Given the description of an element on the screen output the (x, y) to click on. 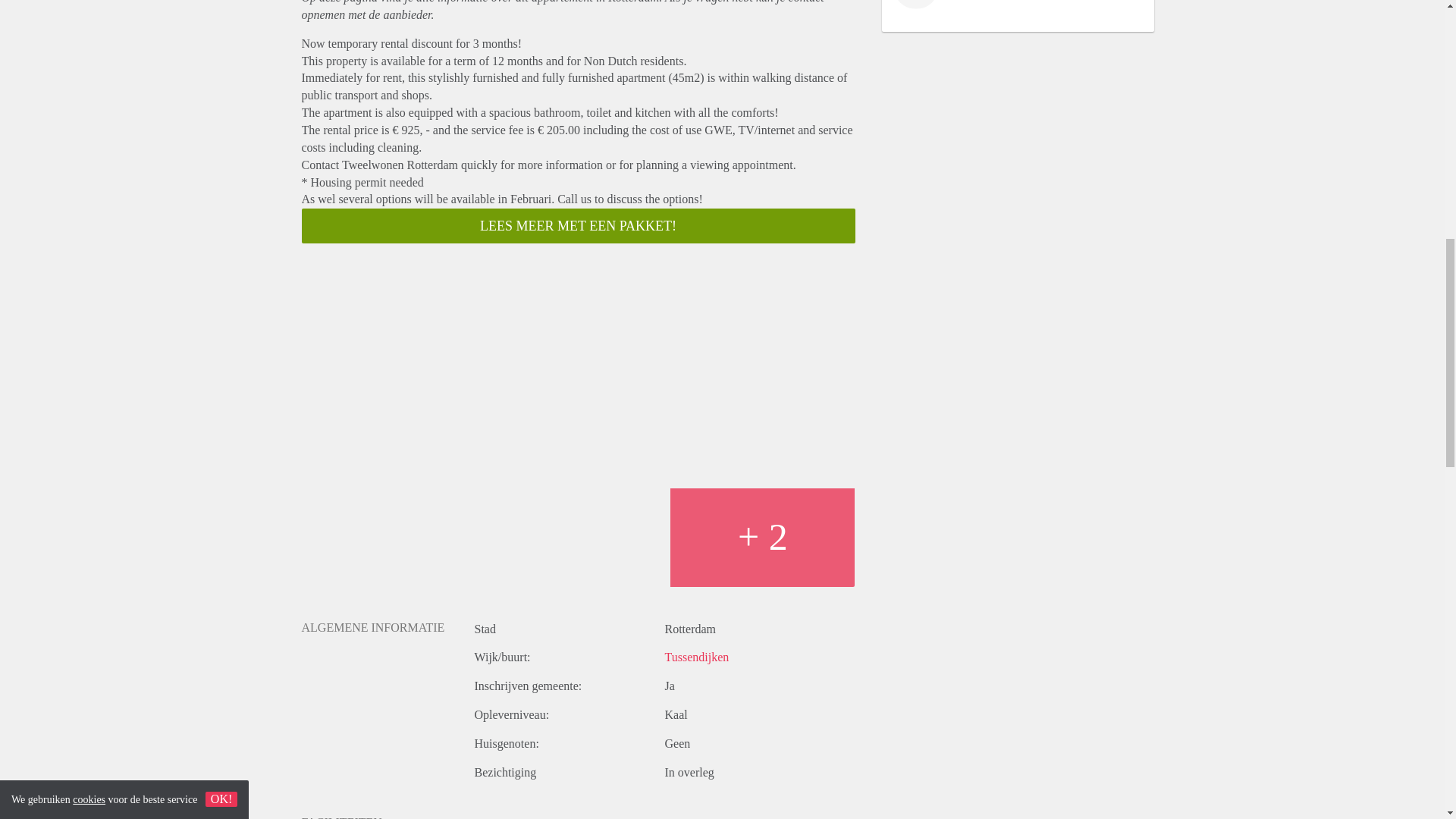
Vraag de adverteerder (743, 818)
LEES MEER MET EEN PAKKET! (578, 225)
Tussendijken (696, 656)
